Given the description of an element on the screen output the (x, y) to click on. 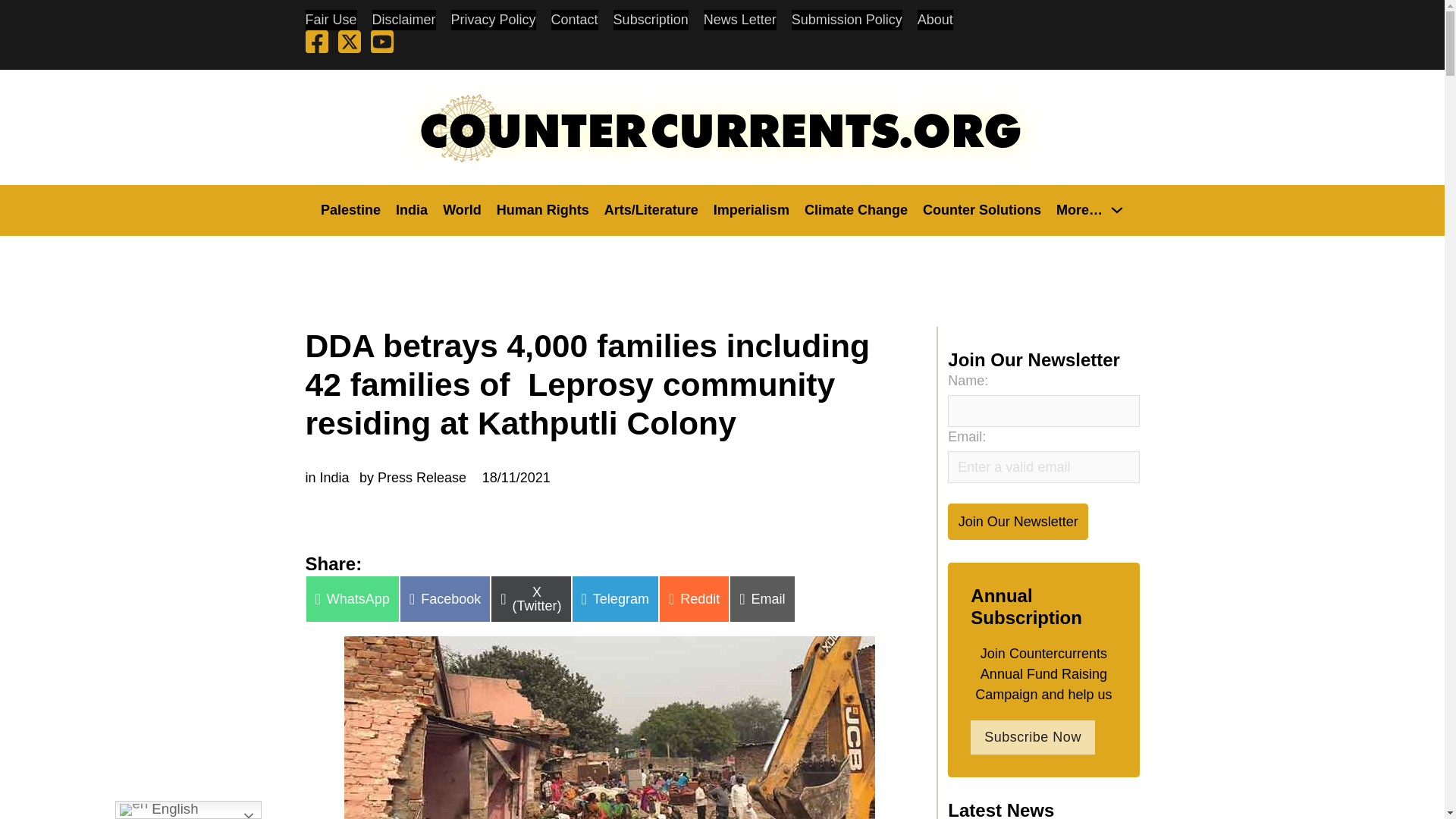
India (412, 209)
Disclaimer (403, 19)
Climate Change (856, 209)
Contact (574, 19)
About (935, 19)
World (461, 209)
Subscription (650, 19)
Join Our Newsletter (1017, 520)
Imperialism (751, 209)
Human Rights (542, 209)
Palestine (350, 209)
Privacy Policy (493, 19)
Fair Use (330, 19)
Submission Policy (847, 19)
